Given the description of an element on the screen output the (x, y) to click on. 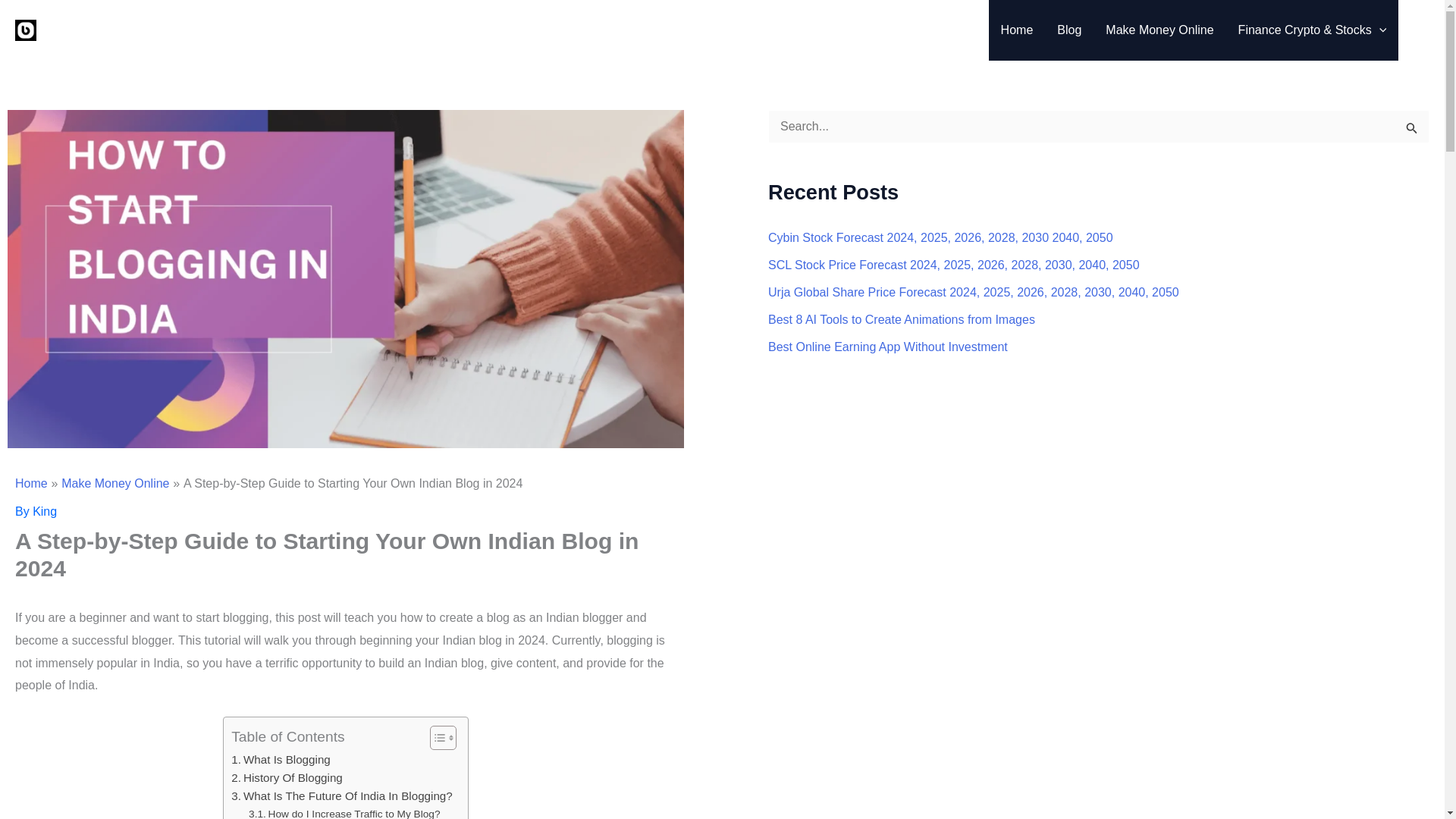
View all posts by King (44, 511)
History Of Blogging (286, 778)
Make Money Online (1159, 30)
Home (31, 482)
What Is Blogging (280, 760)
Make Money Online (114, 482)
What Is Blogging (280, 760)
What Is The Future Of India In Blogging? (341, 796)
How do I Increase Traffic to My Blog? (344, 812)
